Given the description of an element on the screen output the (x, y) to click on. 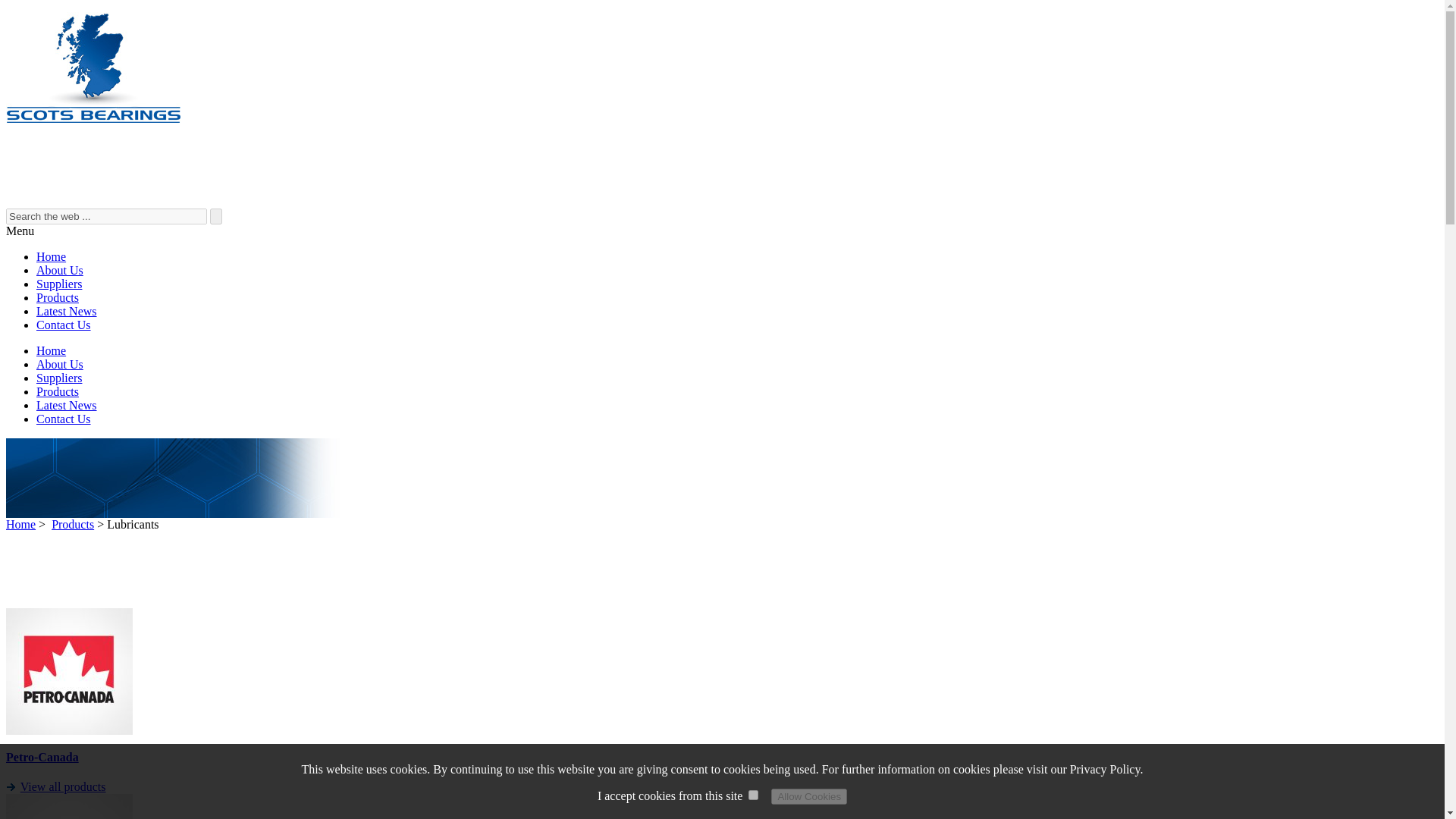
Latest News (66, 310)
Suppliers (58, 283)
Allow Cookies (809, 796)
Home (92, 119)
About Us (59, 269)
Latest News (66, 404)
1 (753, 795)
Products (57, 297)
View all products (63, 786)
Suppliers (58, 377)
